Given the description of an element on the screen output the (x, y) to click on. 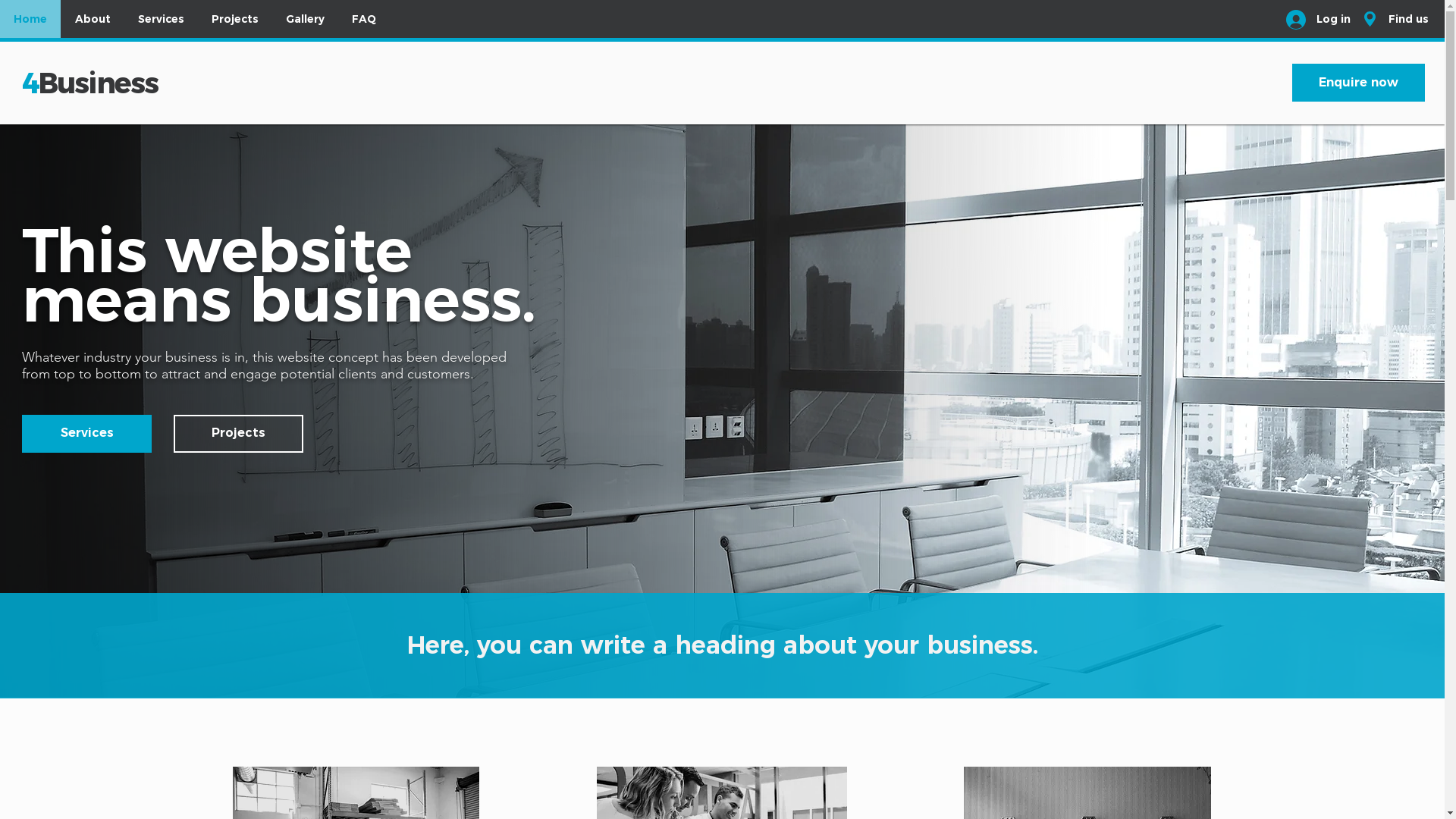
Projects Element type: text (238, 433)
Enquire now Element type: text (1358, 82)
4Business Element type: text (89, 82)
Log in Element type: text (1318, 18)
Gallery Element type: text (304, 18)
Services Element type: text (160, 18)
FAQ Element type: text (363, 18)
Find us Element type: text (1408, 18)
About Element type: text (91, 18)
Projects Element type: text (234, 18)
Home Element type: text (30, 18)
Services Element type: text (86, 433)
